Given the description of an element on the screen output the (x, y) to click on. 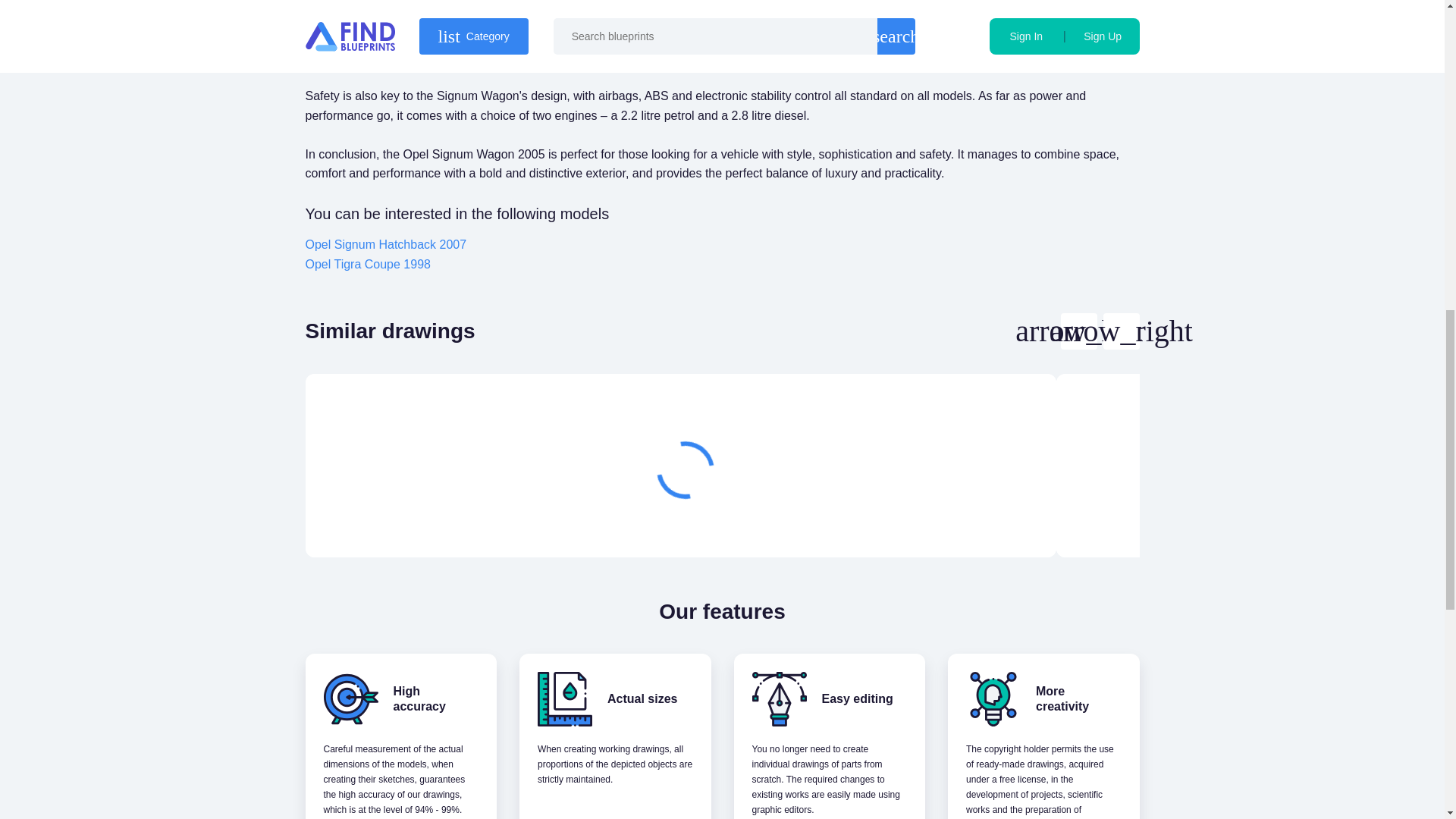
More (962, 520)
Opel Tigra Coupe 1998 (366, 264)
Opel Signum Hatchback 2007 (384, 244)
